Given the description of an element on the screen output the (x, y) to click on. 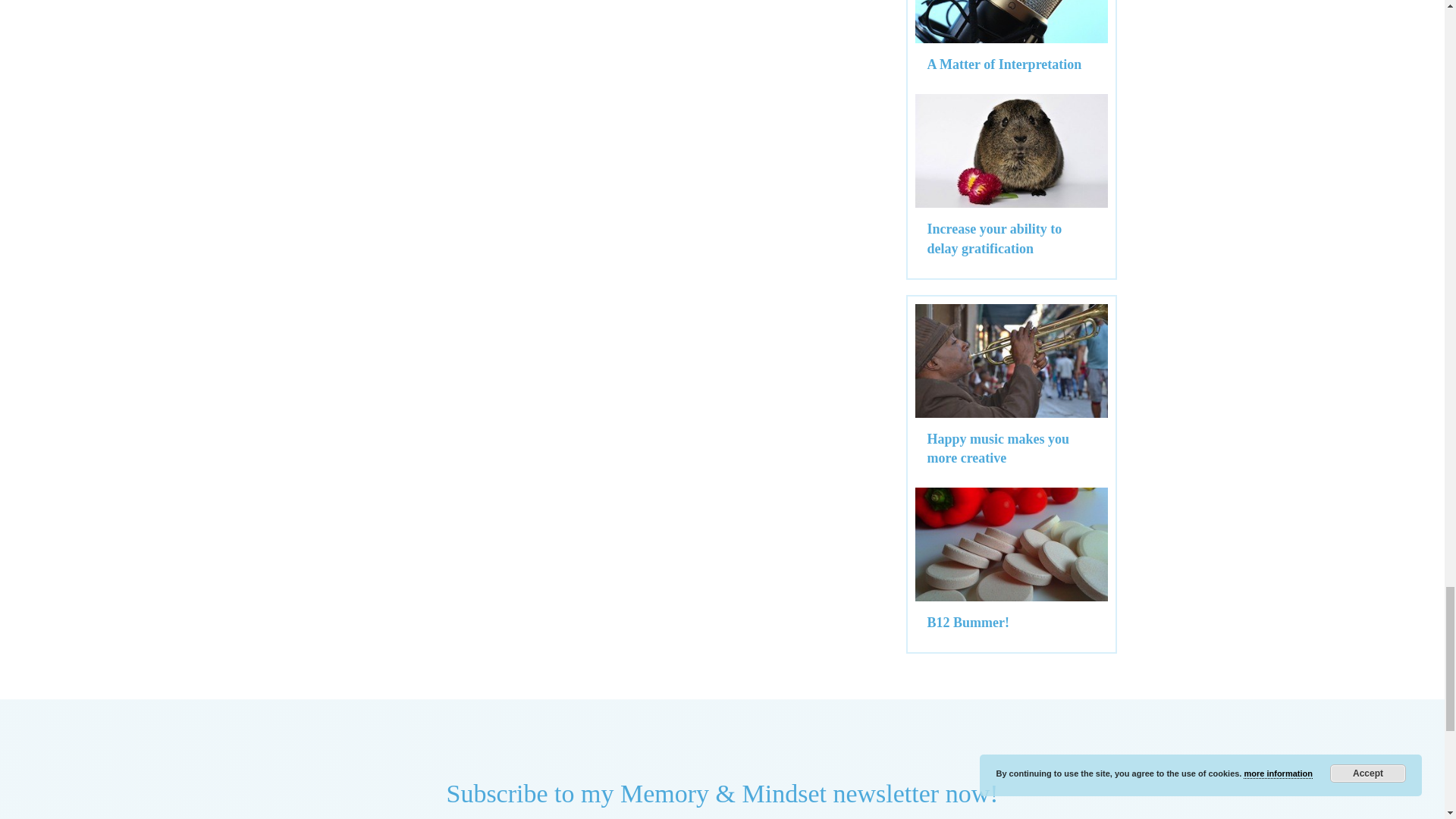
A Matter of Interpretation (1003, 64)
Increase your ability to delay gratification (993, 238)
